Given the description of an element on the screen output the (x, y) to click on. 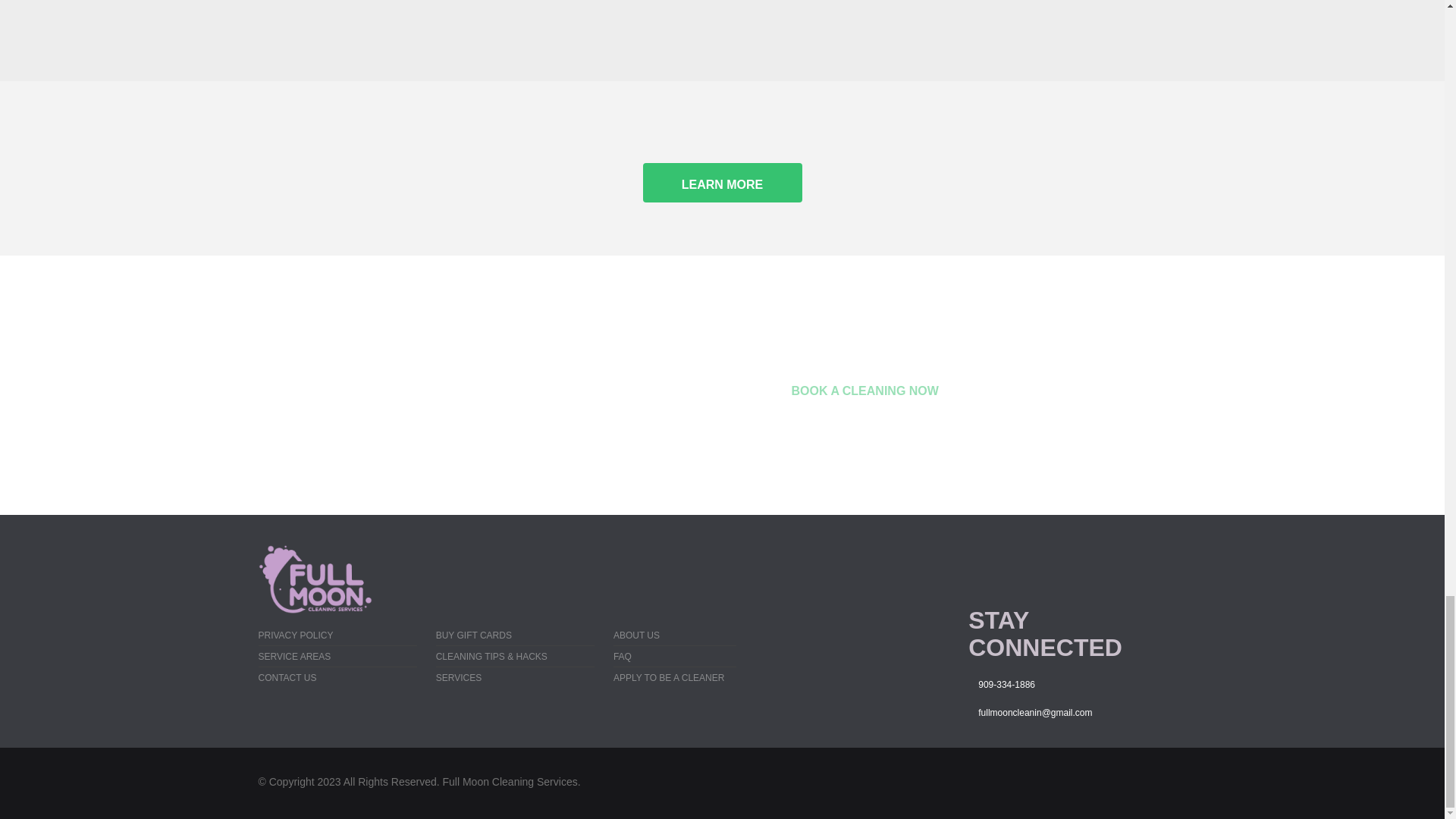
BUY GIFT CARDS (473, 634)
SERVICES (458, 677)
SERVICE AREAS (293, 656)
APPLY TO BE A CLEANER (668, 677)
FAQ (621, 656)
PRIVACY POLICY (295, 634)
CONTACT US (286, 677)
BOOK A CLEANING NOW (864, 388)
ABOUT US (635, 634)
LEARN MORE (722, 182)
